Given the description of an element on the screen output the (x, y) to click on. 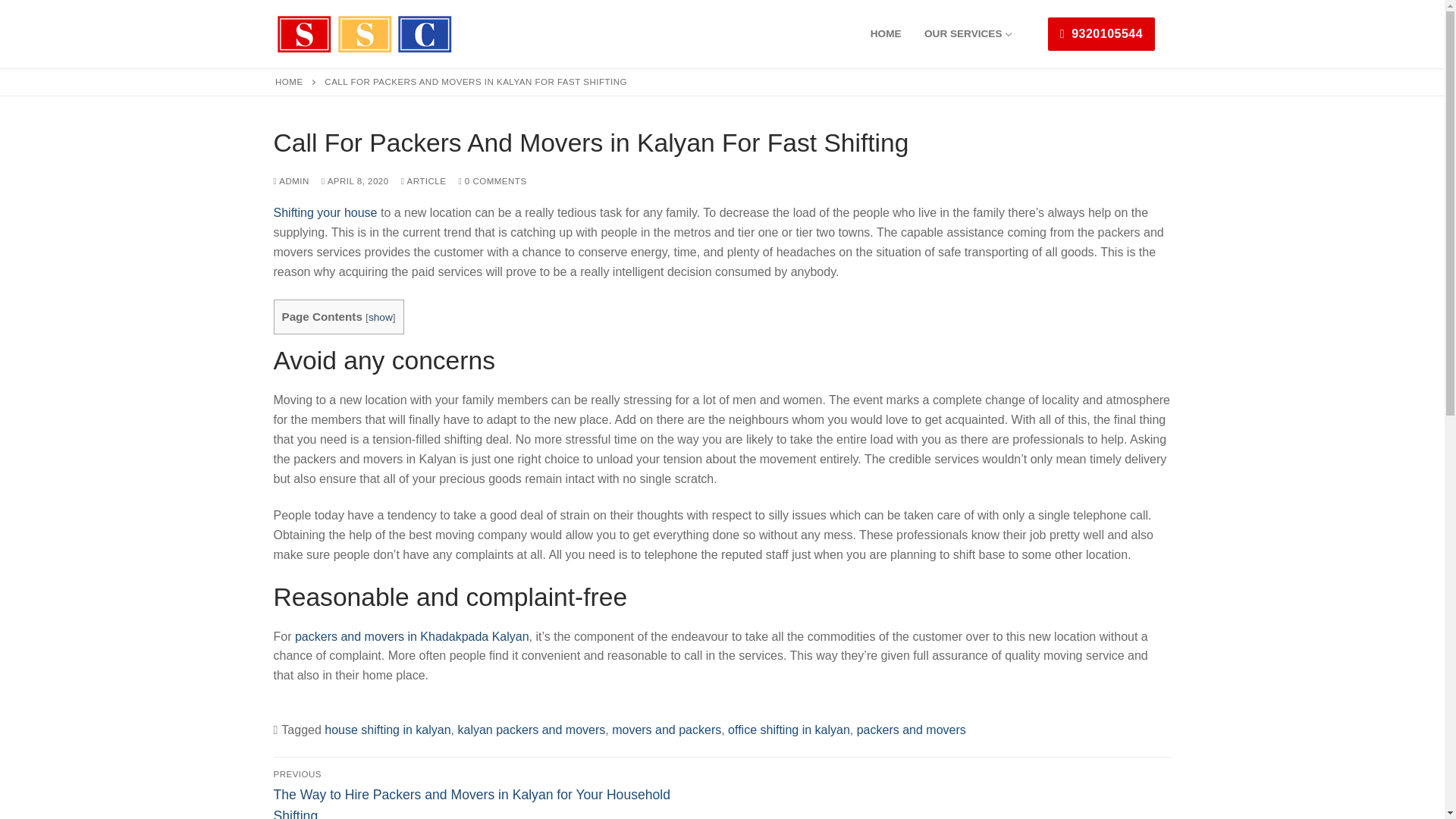
ARTICLE (423, 180)
office shifting in kalyan (789, 729)
packers and movers in Khadakpada Kalyan (412, 635)
9320105544 (1101, 33)
HOME (288, 81)
movers and packers (665, 729)
packers and movers (911, 729)
show (380, 317)
HOME (885, 33)
